Given the description of an element on the screen output the (x, y) to click on. 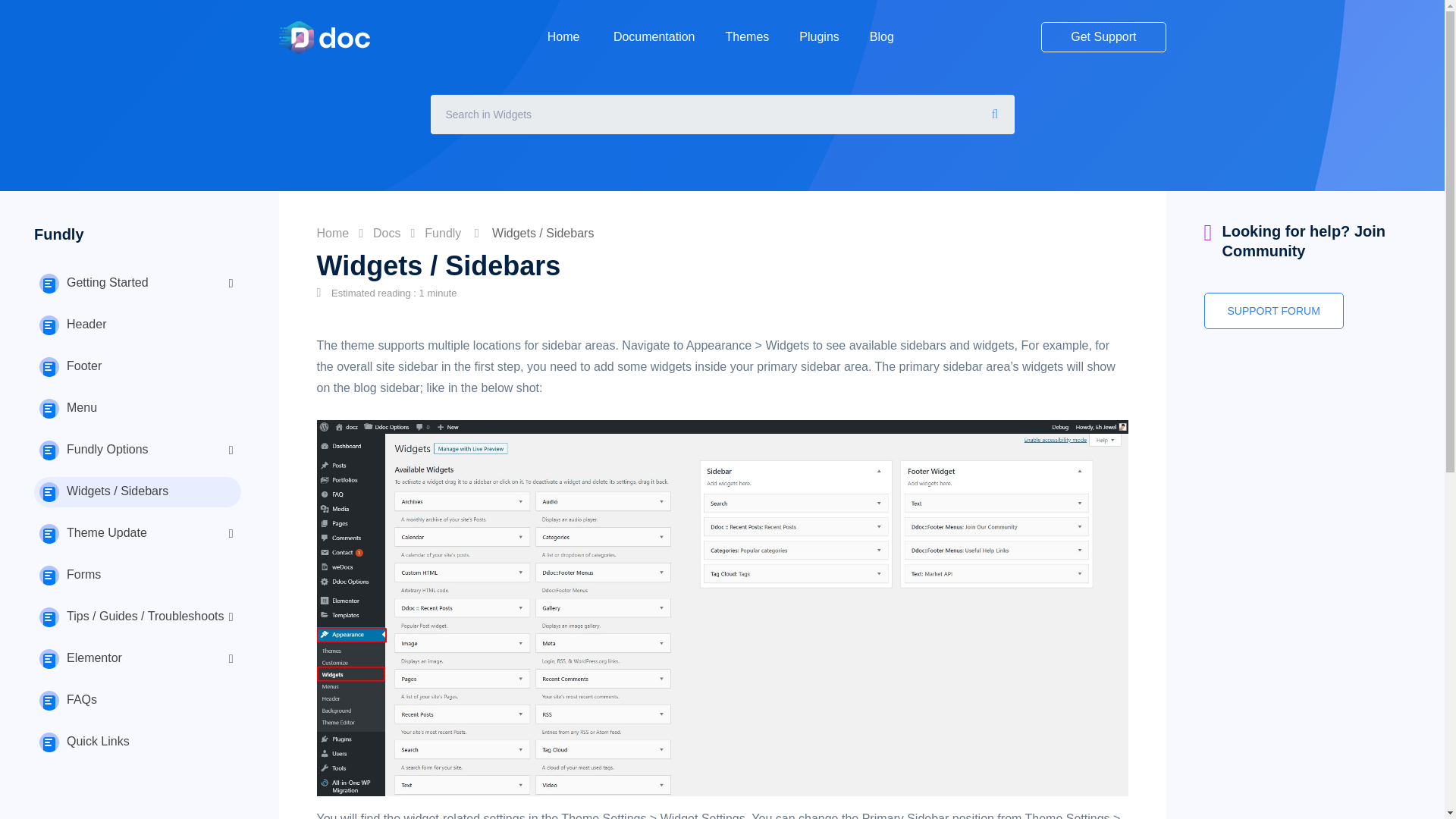
Documentation (653, 36)
Home  (565, 36)
Themes (746, 36)
Home (565, 36)
Documentation (653, 36)
